Given the description of an element on the screen output the (x, y) to click on. 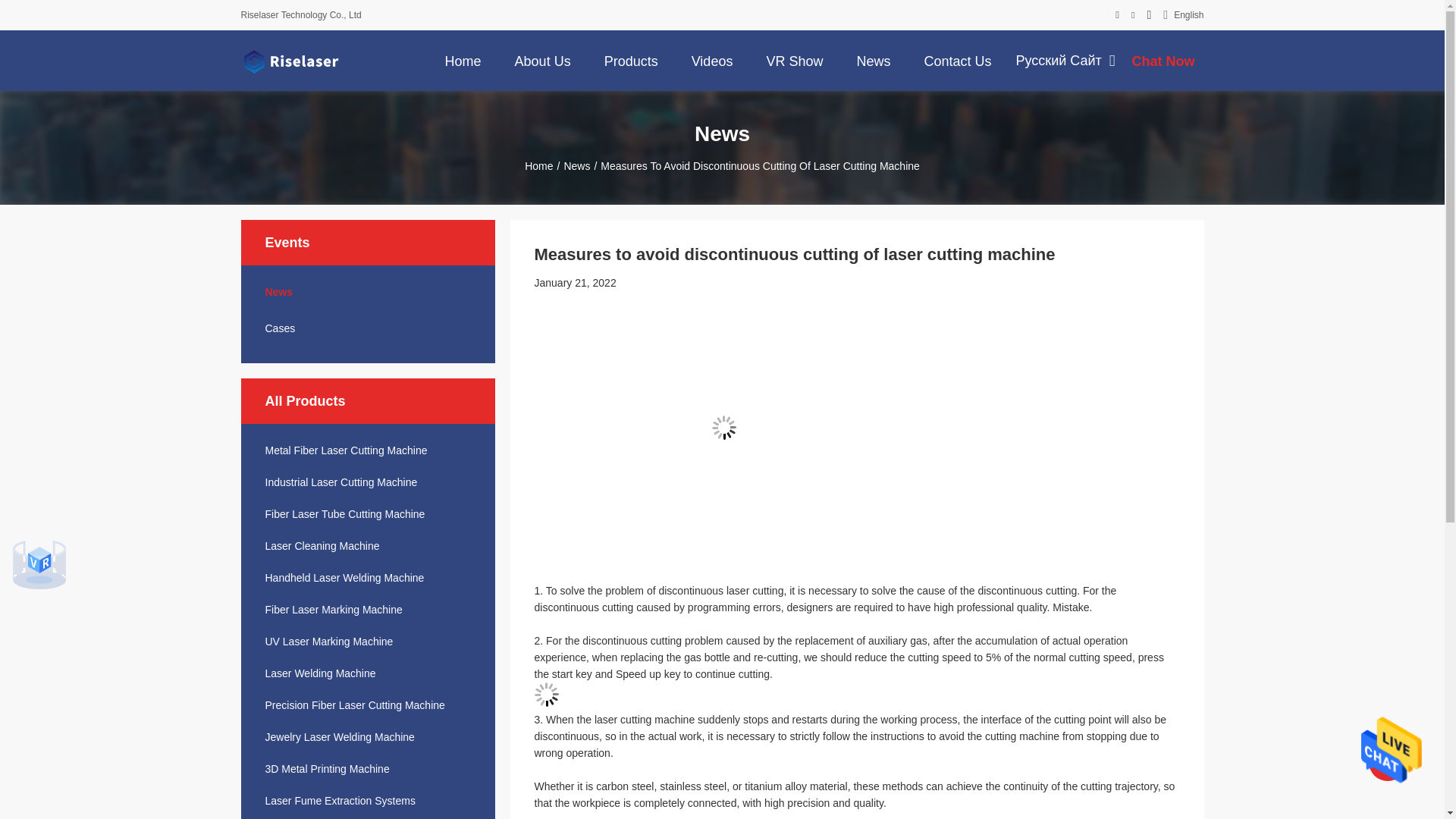
Home (462, 60)
Products (630, 60)
About Us (542, 60)
